Given the description of an element on the screen output the (x, y) to click on. 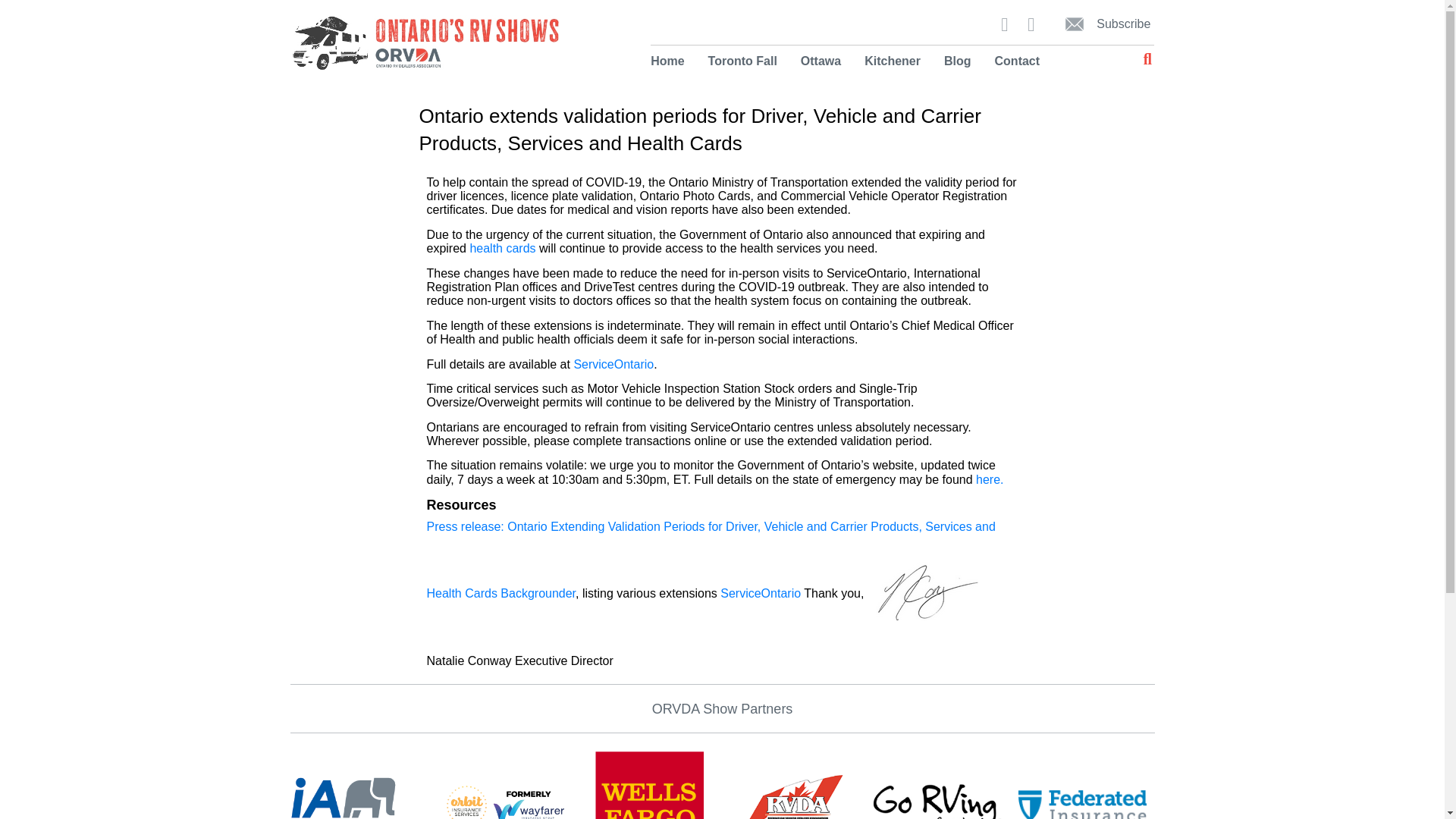
Ottawa (821, 60)
Toronto Fall (743, 60)
Backgrounder (537, 593)
Home (672, 60)
Kitchener (893, 60)
health cards (501, 247)
Blog (958, 60)
ServiceOntario (760, 593)
ServiceOntario (613, 364)
Subscribe (1099, 24)
here. (988, 479)
Contact (1012, 60)
